Given the description of an element on the screen output the (x, y) to click on. 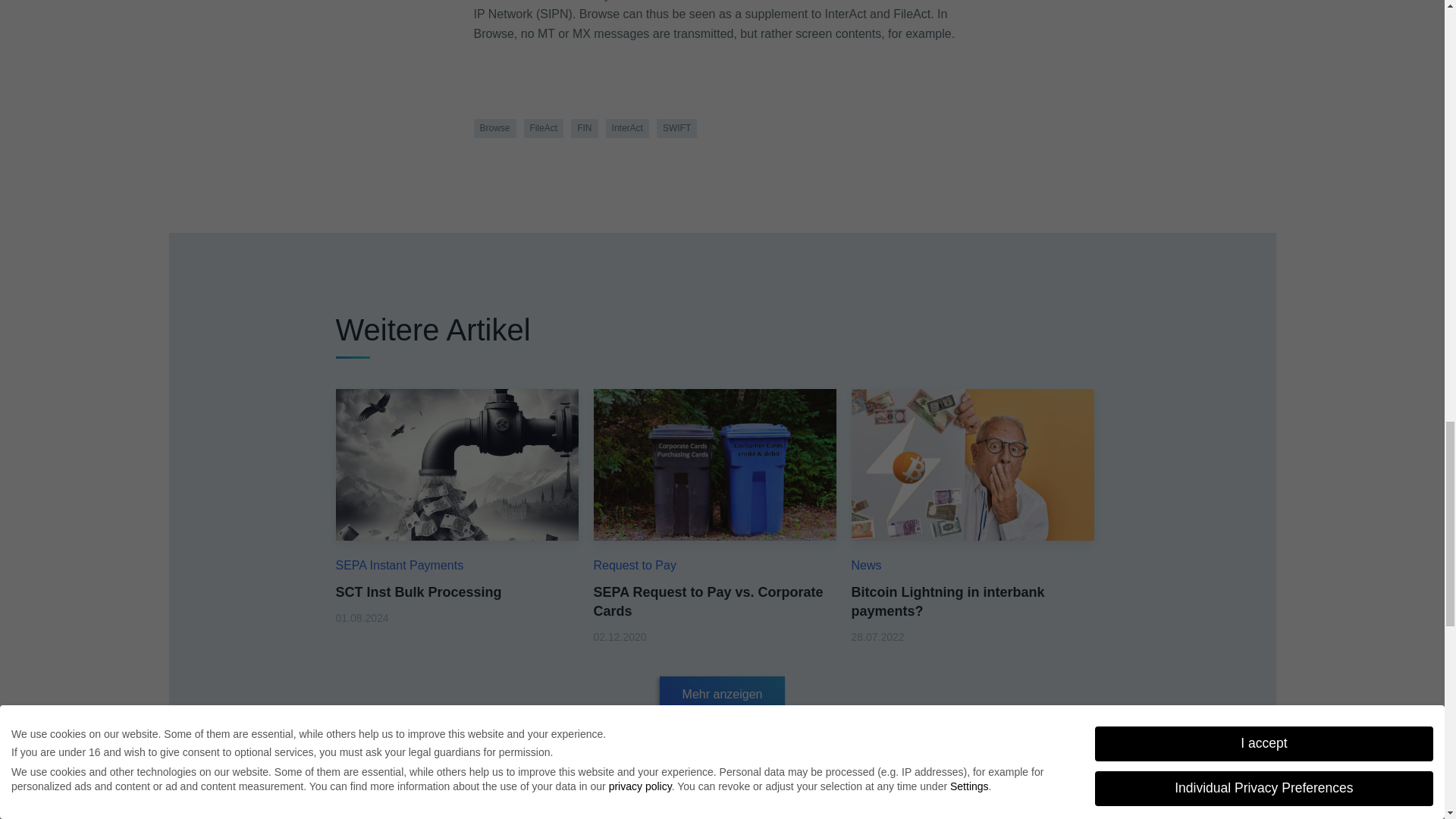
SCT Inst Bulk Processing (456, 463)
SEPA Request to Pay vs. Corporate Cards (707, 601)
Request to Pay (633, 564)
Bitcoin Lightning in interbank payments? (946, 601)
News (865, 564)
SEPA Request to Pay vs. Corporate Cards (713, 463)
SCT Inst Bulk Processing (417, 591)
SEPA Request to Pay vs. Corporate Cards (707, 601)
Mehr anzeigen (722, 694)
Bitcoin Lightning in interbank payments? (971, 463)
